Given the description of an element on the screen output the (x, y) to click on. 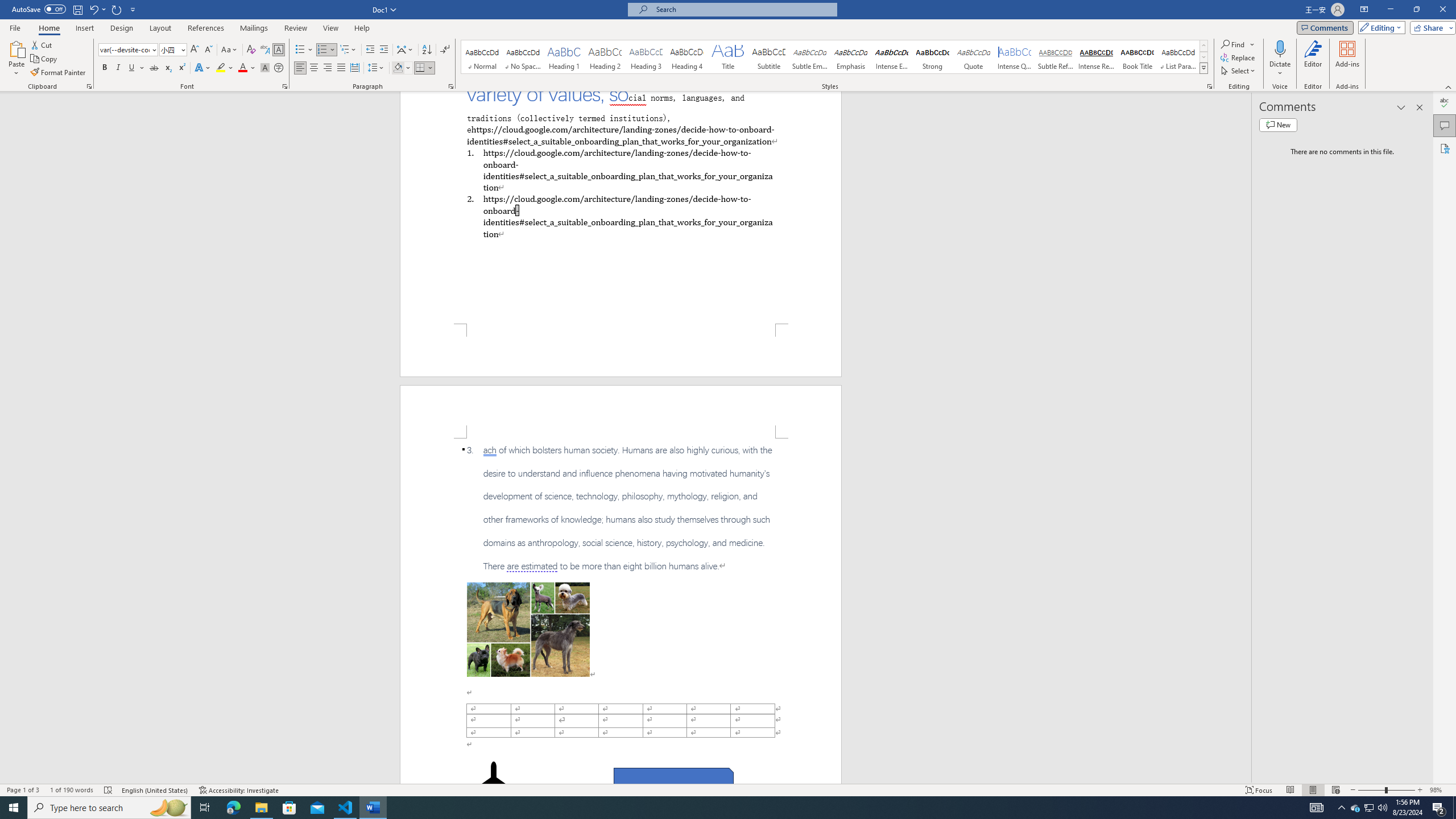
Decrease Indent (370, 49)
Styles (1203, 67)
Task Pane Options (1400, 107)
Class: NetUIScrollBar (1245, 437)
Grow Font (193, 49)
Cut (42, 44)
Page Number Page 1 of 3 (22, 790)
